Given the description of an element on the screen output the (x, y) to click on. 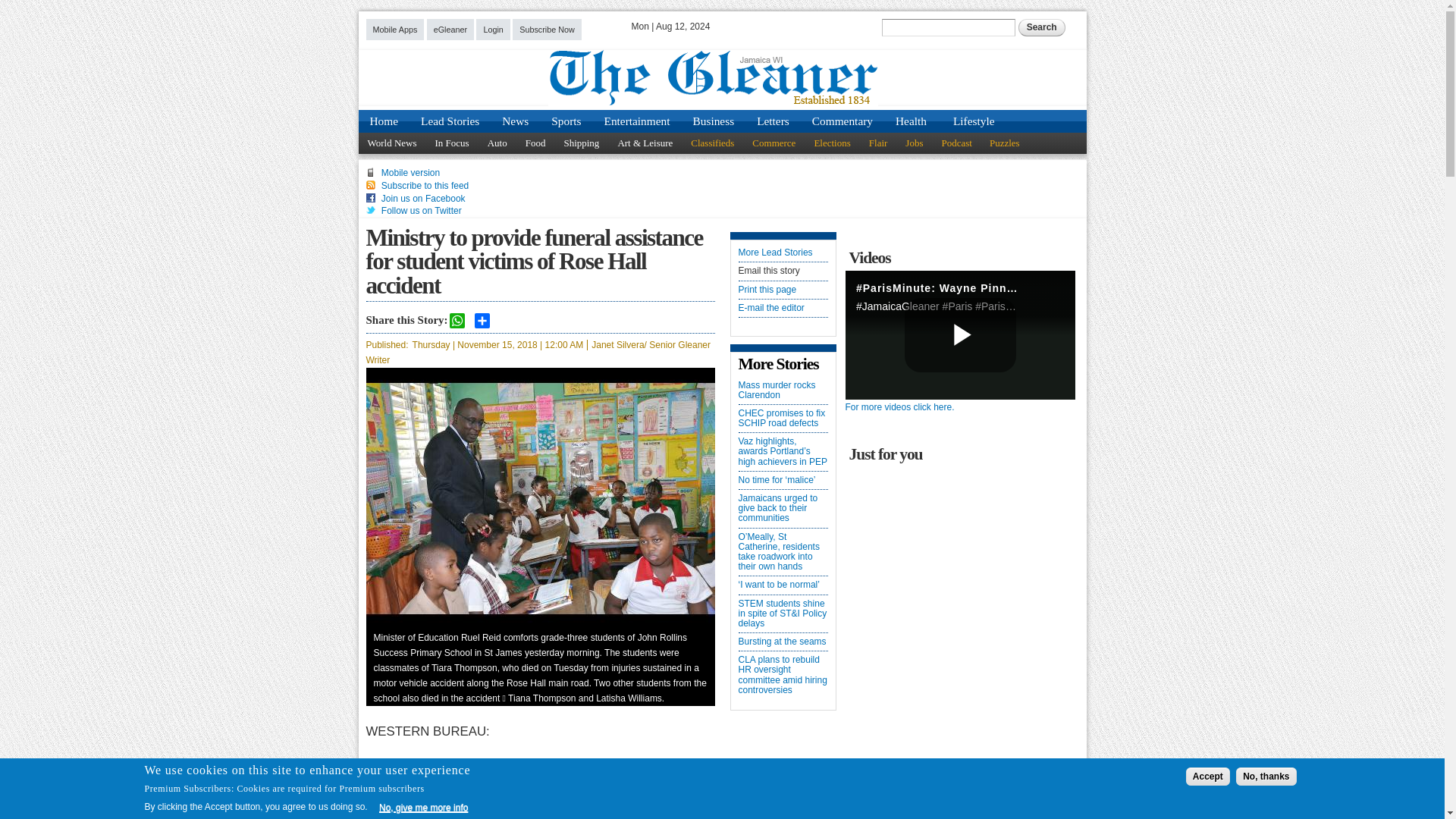
Lead Stories (449, 120)
WhatsApp (456, 320)
Search (1041, 27)
eGleaner (450, 29)
Lifestyle (973, 120)
Elections (832, 142)
World News (391, 142)
Entertainment (636, 120)
Shipping (581, 142)
In Focus (452, 142)
